Given the description of an element on the screen output the (x, y) to click on. 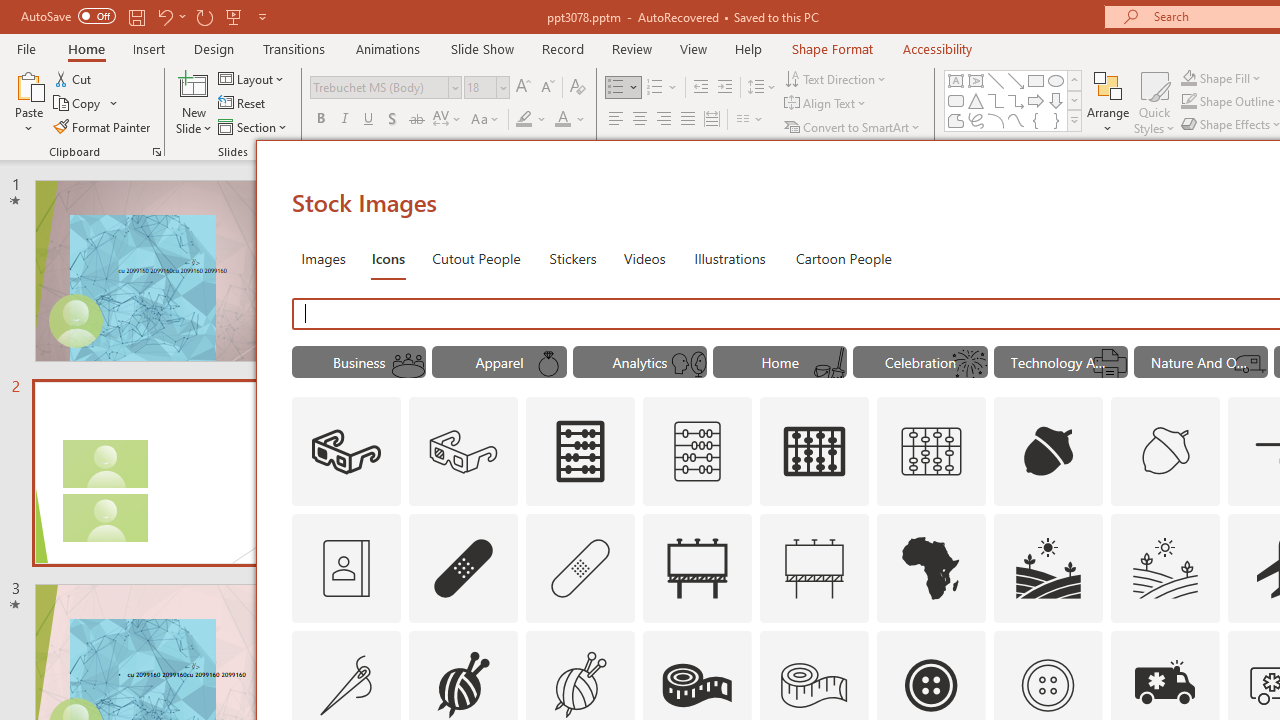
AutomationID: Icons_Abacus_M (697, 452)
Reset (243, 103)
AutomationID: Icons_Fireworks_M (970, 364)
Text Direction (836, 78)
Layout (252, 78)
Character Spacing (447, 119)
Shape Format (832, 48)
AutomationID: ShapesInsertGallery (1014, 100)
